Given the description of an element on the screen output the (x, y) to click on. 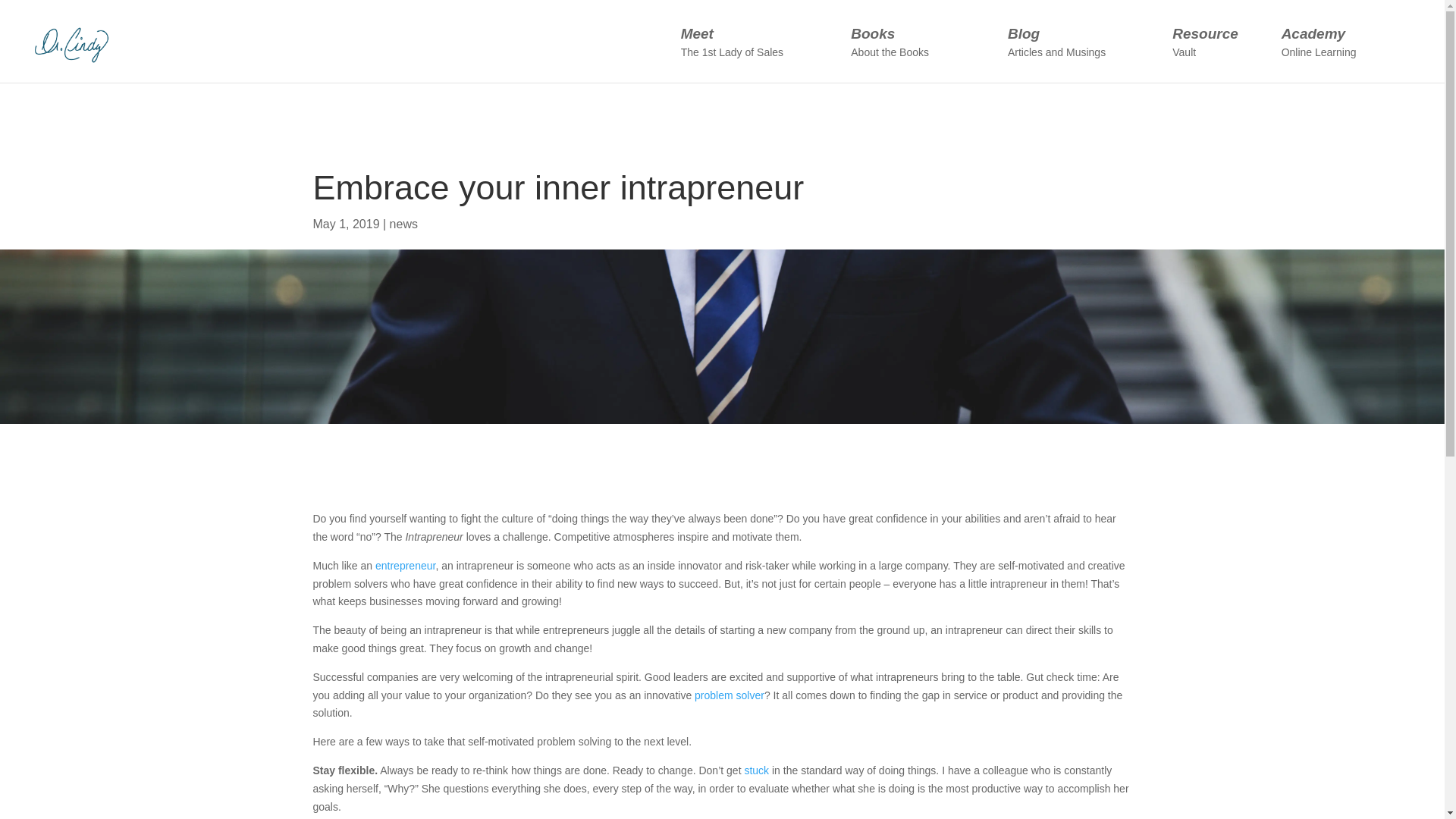
entrepreneur (919, 53)
news (405, 565)
stuck (1216, 53)
problem solver (756, 53)
